Given the description of an element on the screen output the (x, y) to click on. 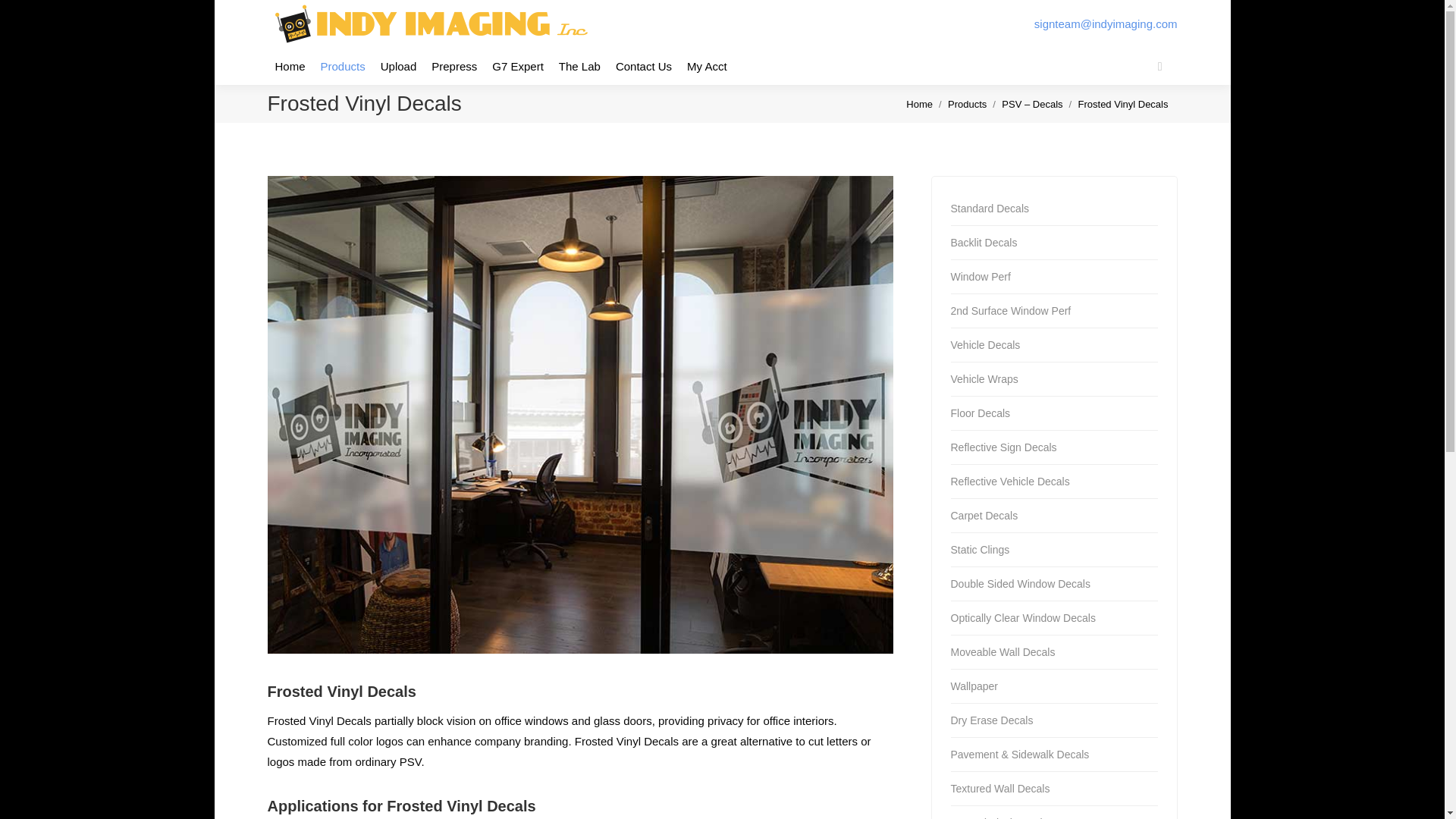
Products (342, 66)
Products (967, 103)
Home (289, 66)
Home (919, 103)
